Given the description of an element on the screen output the (x, y) to click on. 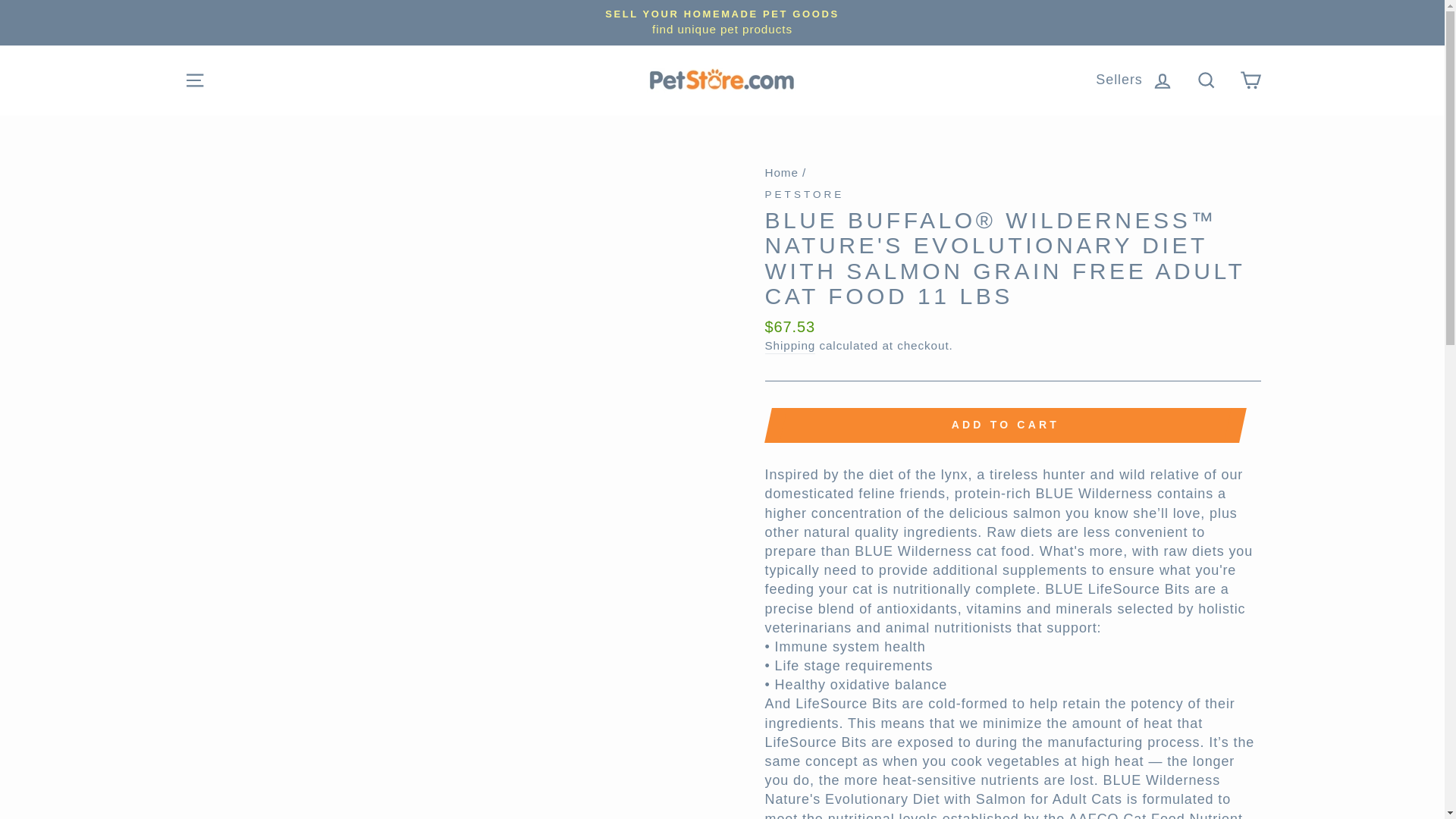
Back to the frontpage (780, 172)
Petstore (804, 194)
